Given the description of an element on the screen output the (x, y) to click on. 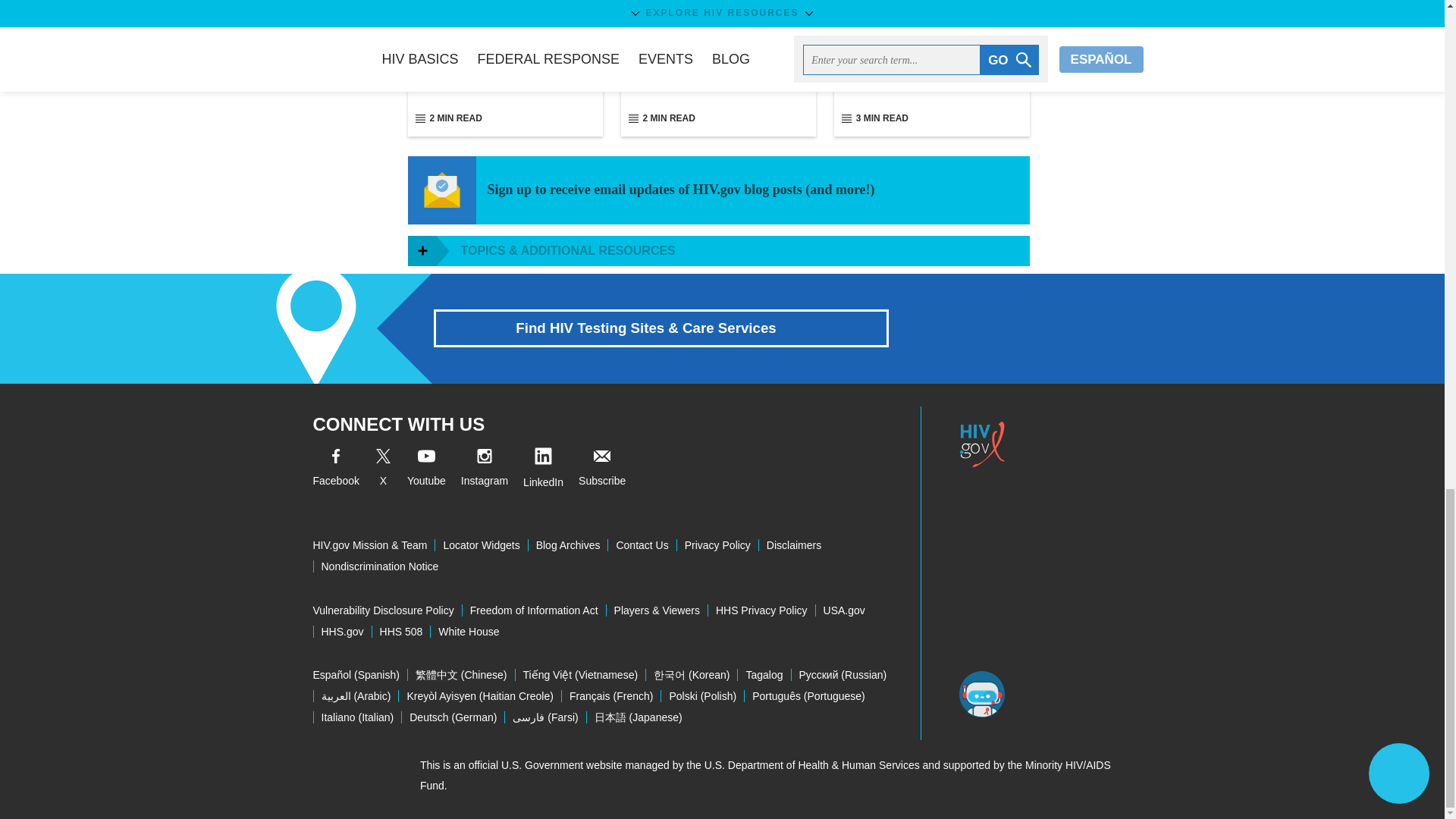
Visit HIV.gov on Instagram (484, 470)
Visit HIV.gov on Facebook (335, 470)
Visit to subscribe to HIV.gov email updates (602, 470)
